Given the description of an element on the screen output the (x, y) to click on. 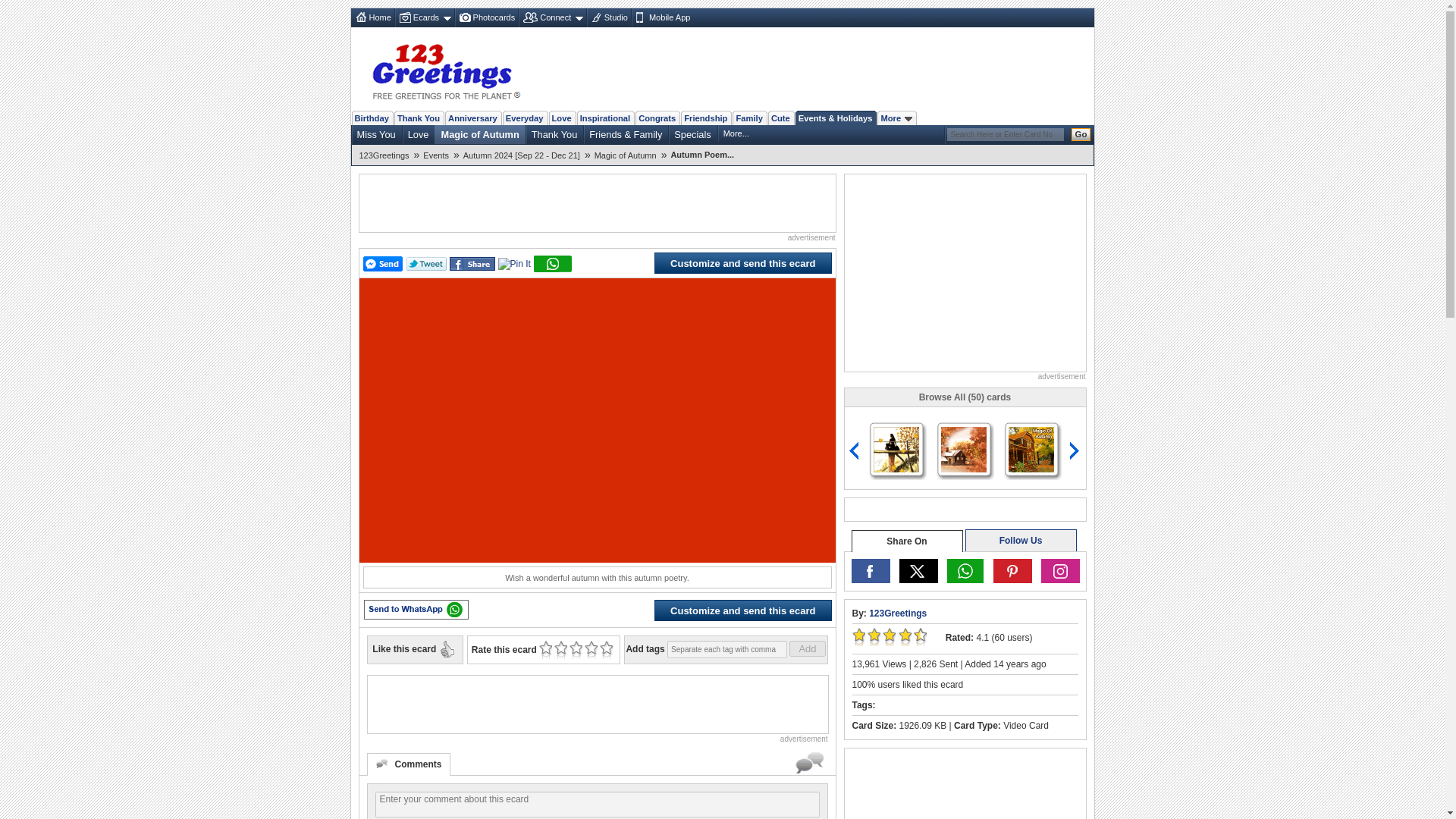
Search Here or Enter Card No (1004, 133)
Friendship (705, 117)
Events (437, 155)
Magic of Autumn (478, 134)
Everyday (524, 117)
Home (371, 17)
Inspirational (604, 117)
Congrats (656, 117)
Ecards (424, 17)
Birthday (371, 117)
Photocards (486, 17)
123Greetings (386, 155)
Cute (780, 117)
Miss You (375, 134)
Love (418, 134)
